Given the description of an element on the screen output the (x, y) to click on. 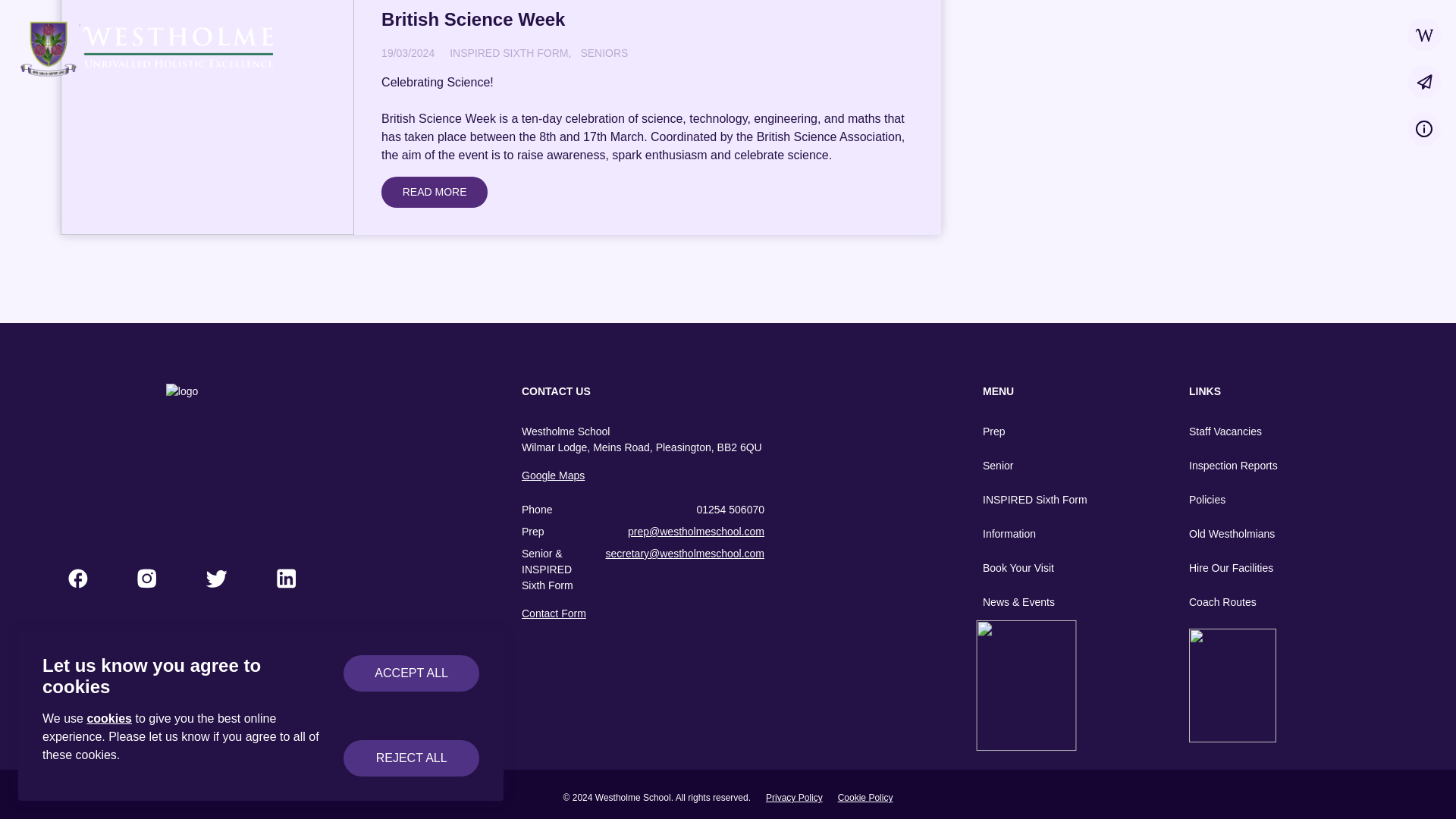
Google Maps (642, 475)
INSPIRED Sixth Form (1042, 499)
READ MORE (434, 192)
Contact Form (642, 613)
01254 506070 (729, 509)
Senior (1042, 465)
Prep (1042, 431)
